Given the description of an element on the screen output the (x, y) to click on. 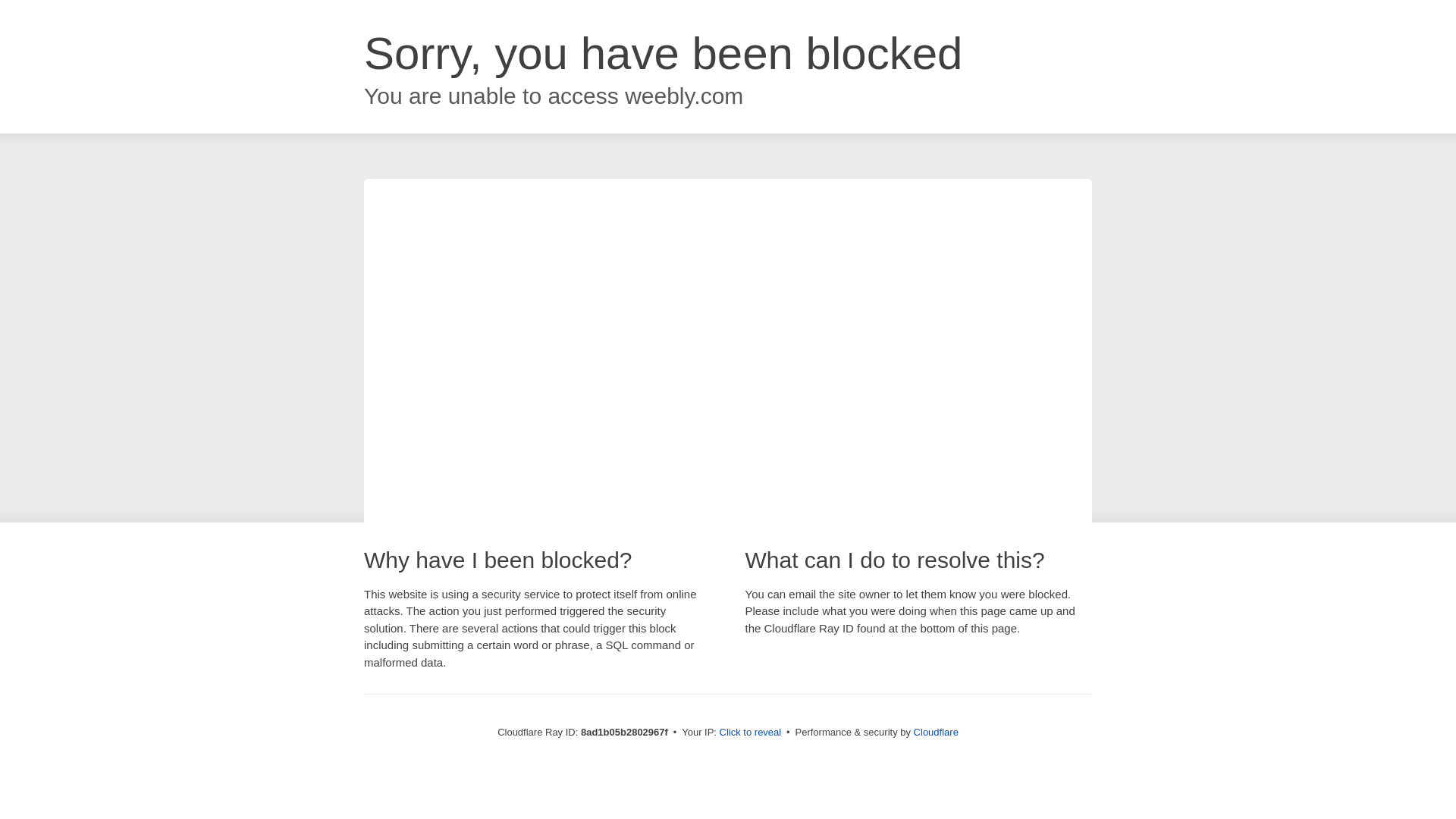
Click to reveal (750, 732)
Cloudflare (936, 731)
